Given the description of an element on the screen output the (x, y) to click on. 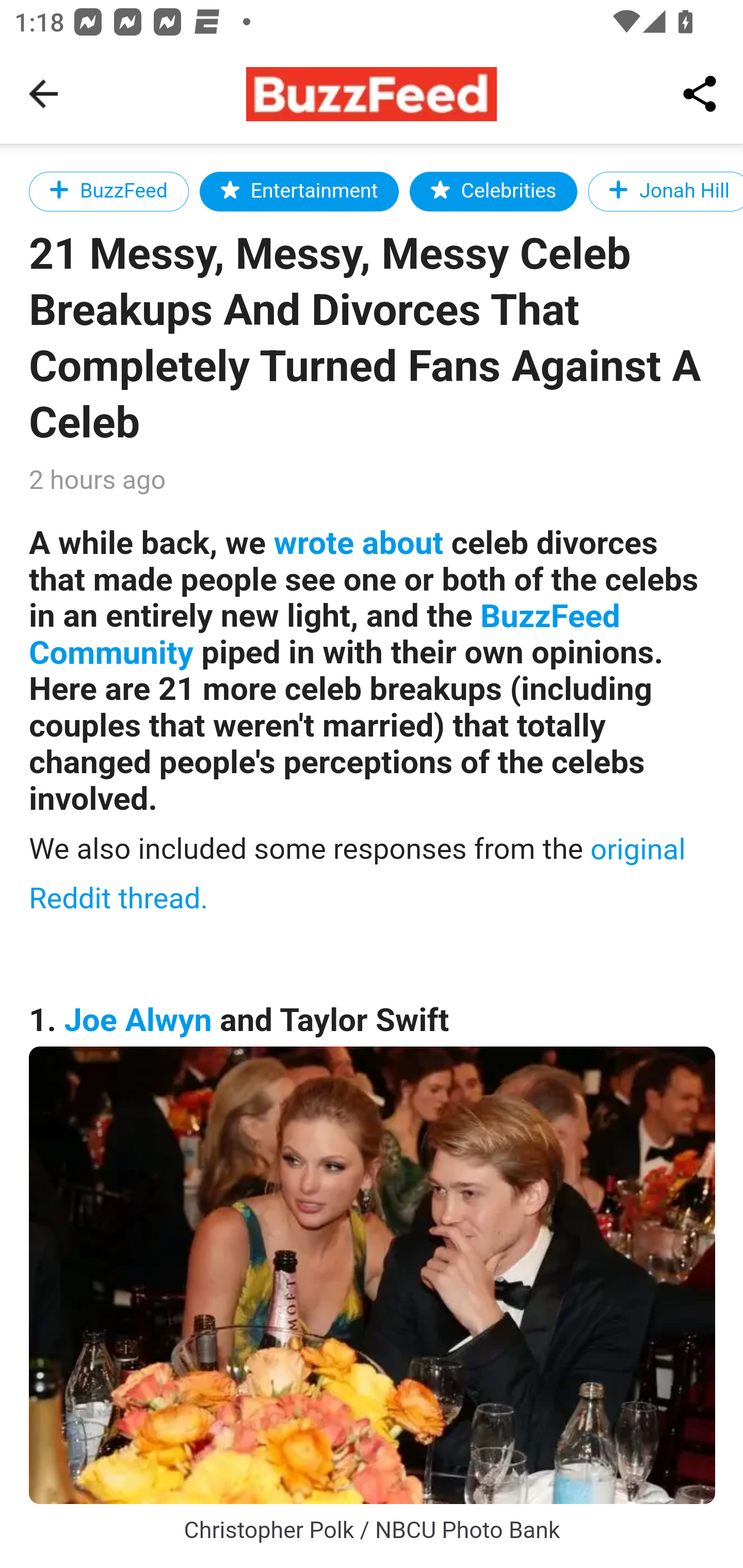
BuzzFeed (108, 191)
Entertainment (299, 191)
Celebrities (492, 191)
Jonah Hill (664, 191)
wrote about (358, 542)
BuzzFeed Community (324, 635)
original Reddit thread. (357, 872)
Joe Alwyn (138, 1020)
